Given the description of an element on the screen output the (x, y) to click on. 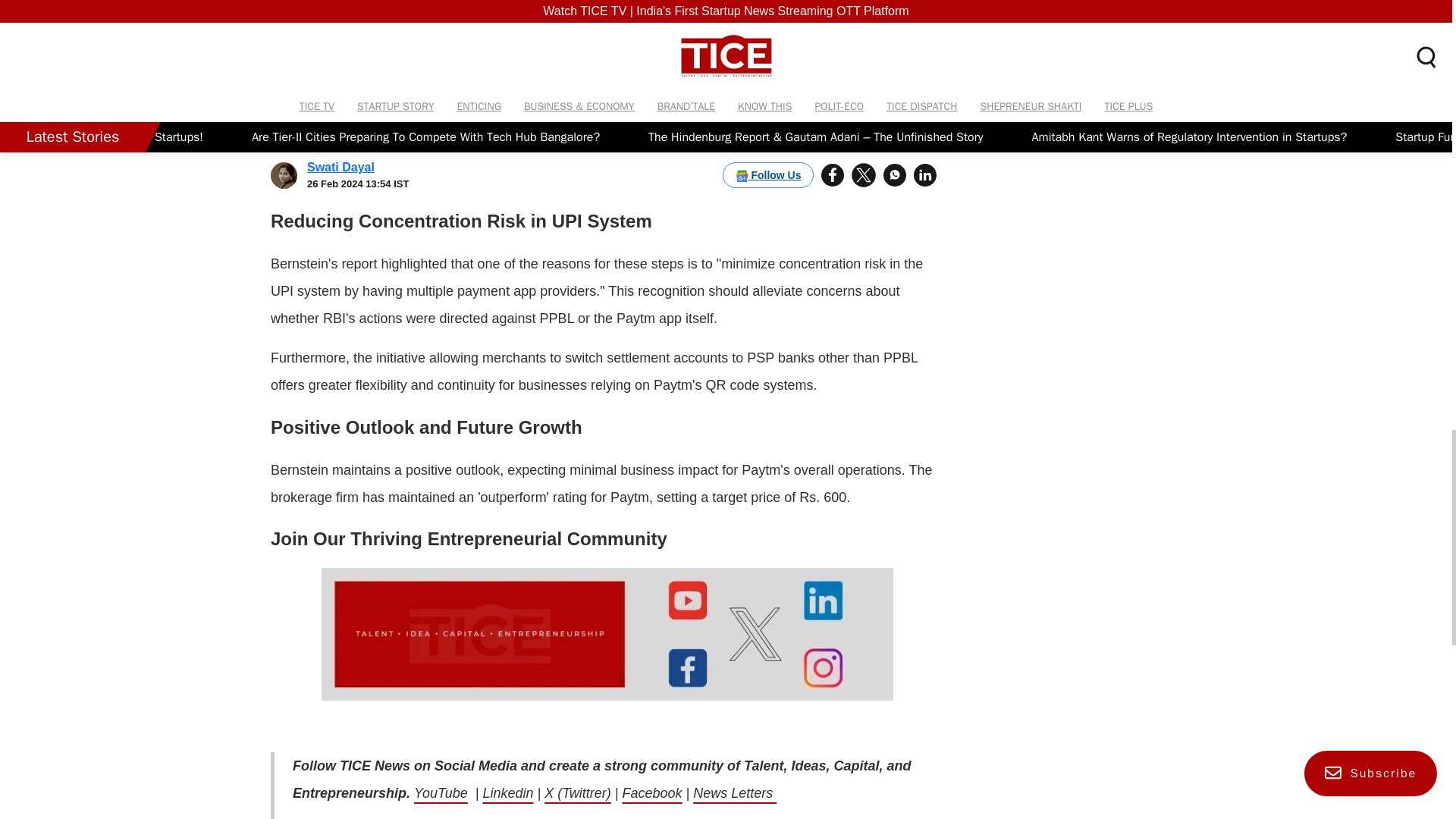
News Letters  (734, 792)
YouTube (440, 792)
Linkedin (506, 792)
Facebook (652, 792)
